Given the description of an element on the screen output the (x, y) to click on. 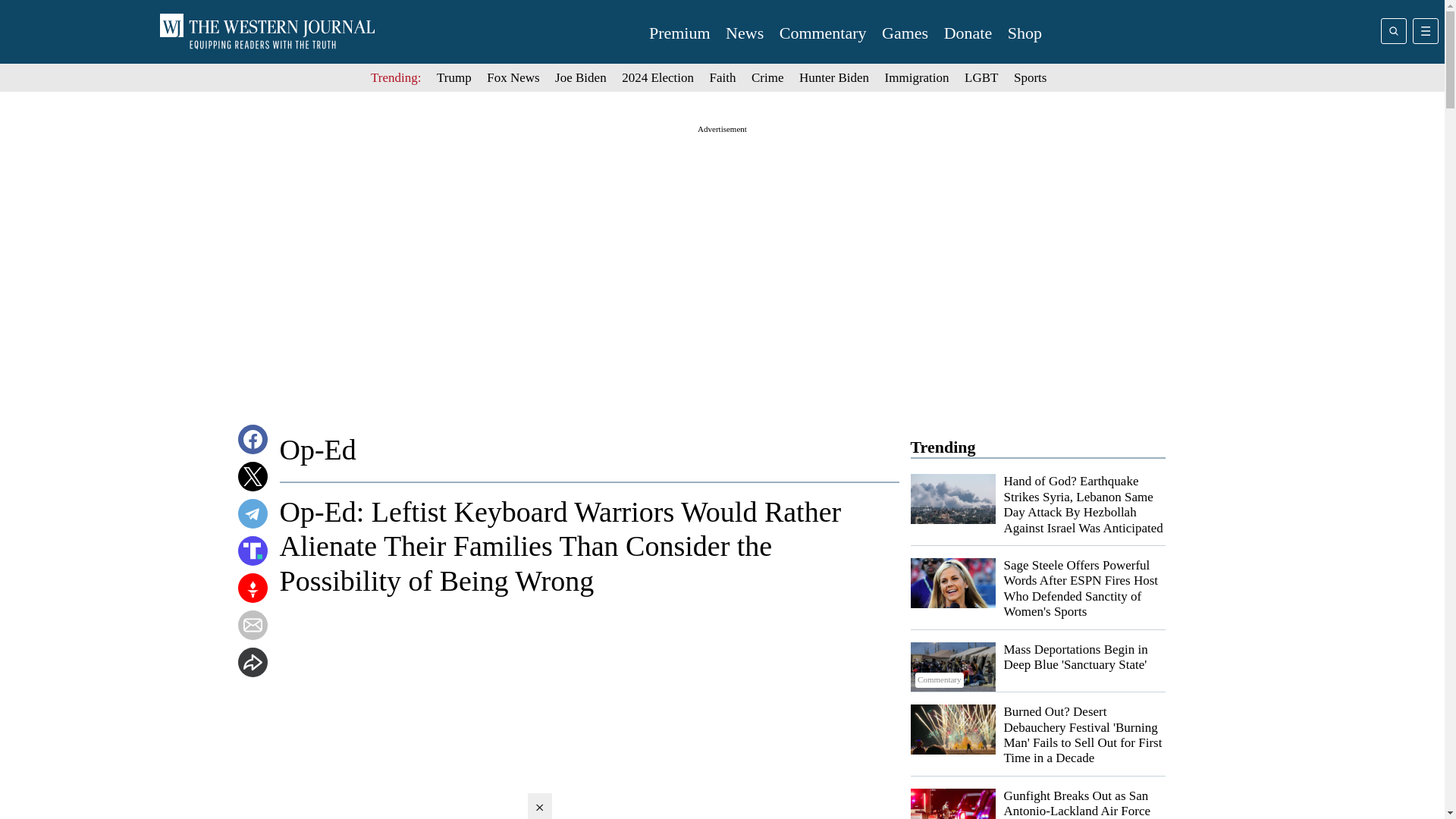
Shop (1024, 32)
Mass Deportations Begin in Deep Blue 'Sanctuary State' (1076, 656)
Hunter Biden (834, 77)
Fox News (512, 77)
News (743, 32)
2024 Election (657, 77)
LGBT (980, 77)
Sports (1029, 77)
Crime (767, 77)
